Given the description of an element on the screen output the (x, y) to click on. 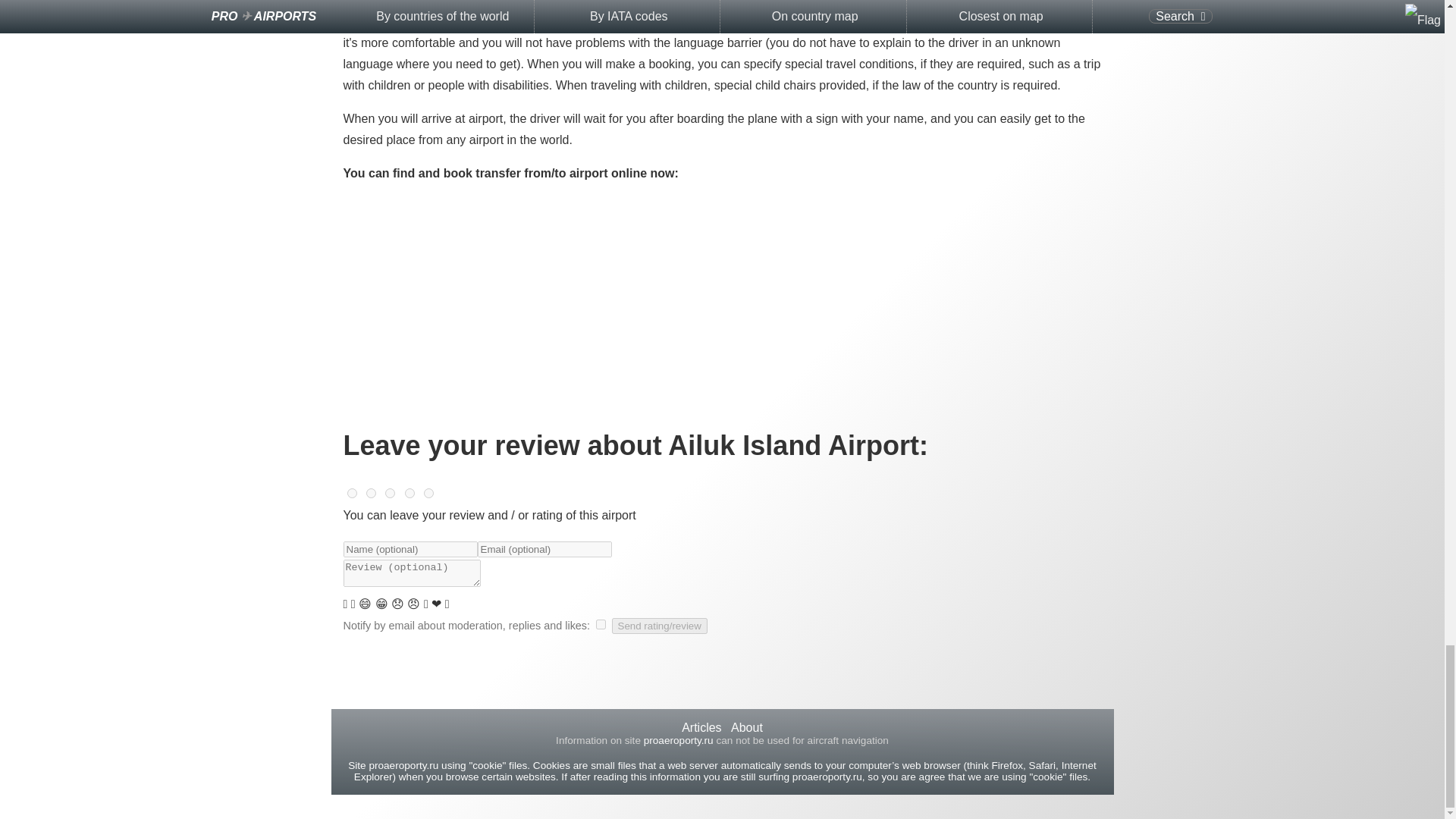
5 (351, 492)
4 (370, 492)
1 (428, 492)
3 (389, 492)
on (600, 624)
2 (409, 492)
